Given the description of an element on the screen output the (x, y) to click on. 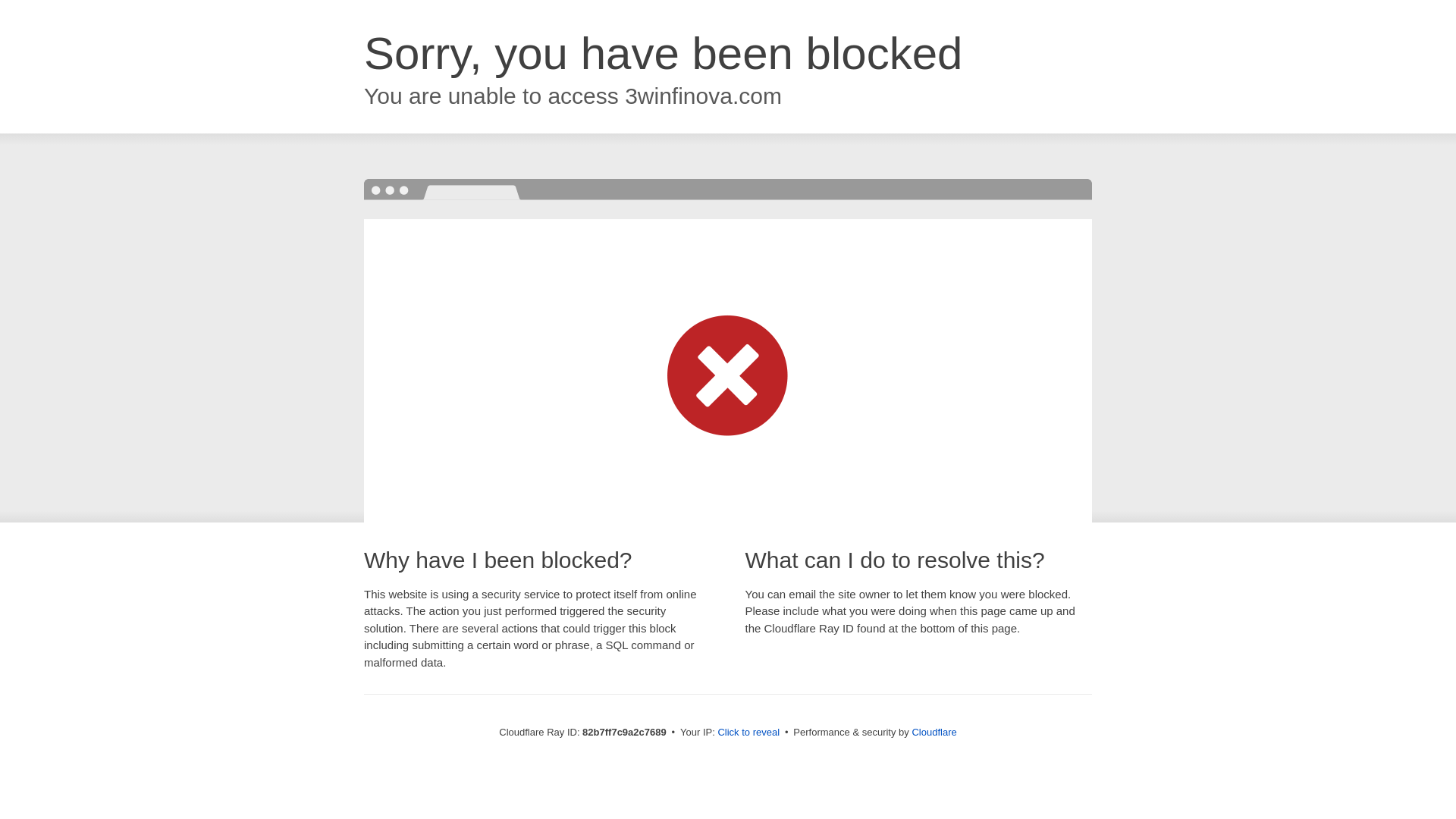
Click to reveal Element type: text (748, 732)
Cloudflare Element type: text (933, 731)
